Given the description of an element on the screen output the (x, y) to click on. 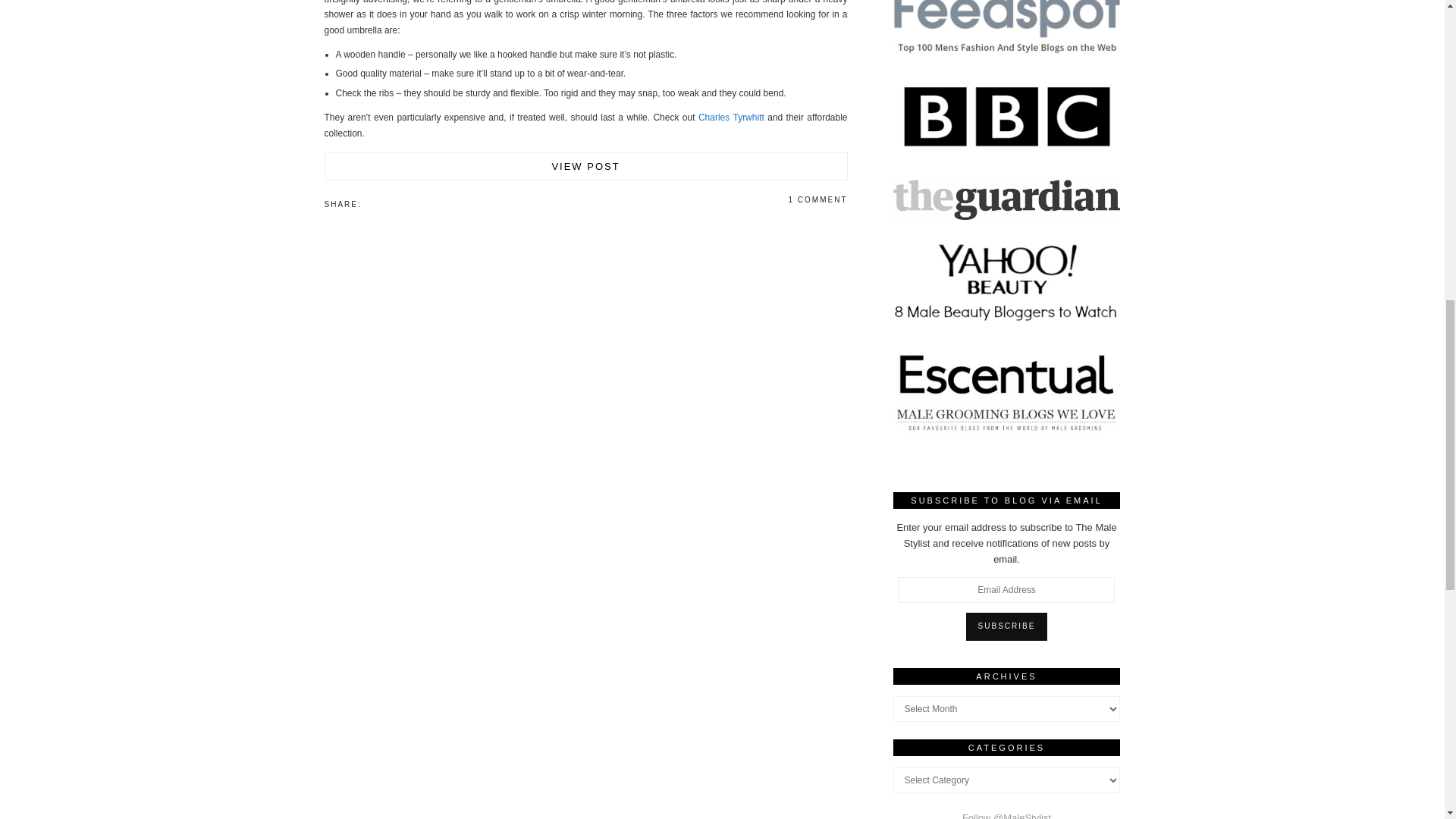
1 COMMENT (818, 199)
VIEW POST (585, 166)
Charles Tyrwhitt (731, 117)
